Given the description of an element on the screen output the (x, y) to click on. 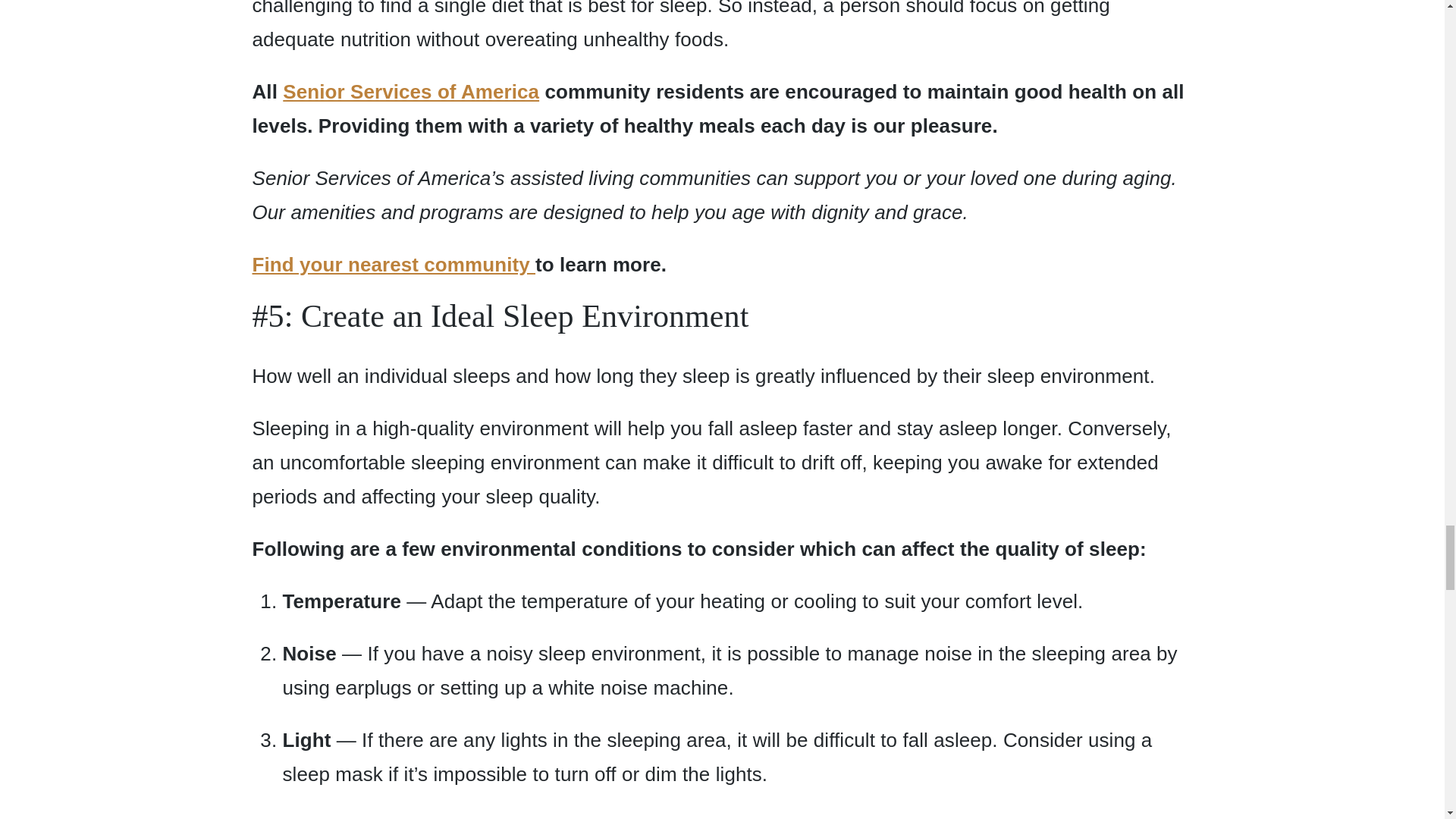
Senior Services of America (410, 91)
Find your nearest community (393, 264)
